Given the description of an element on the screen output the (x, y) to click on. 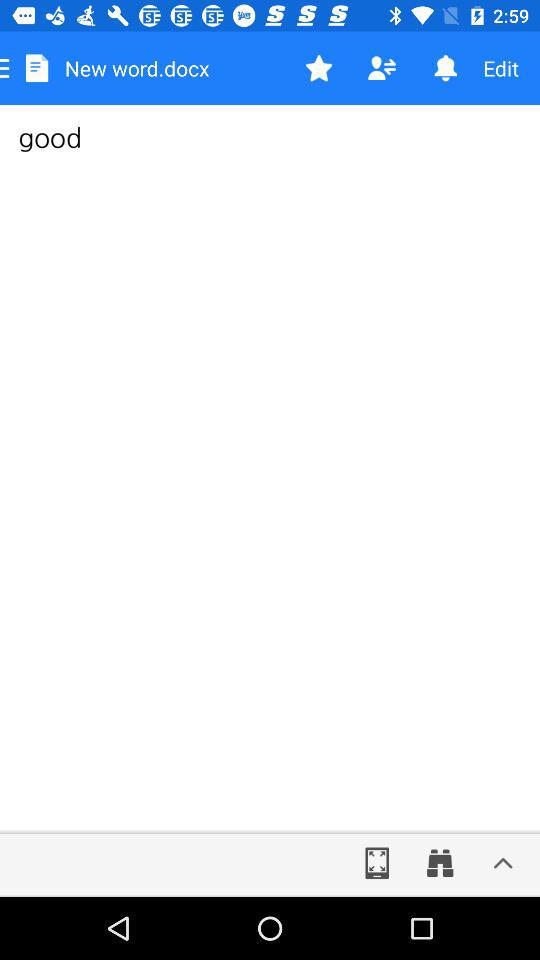
go to favourite (318, 68)
